Given the description of an element on the screen output the (x, y) to click on. 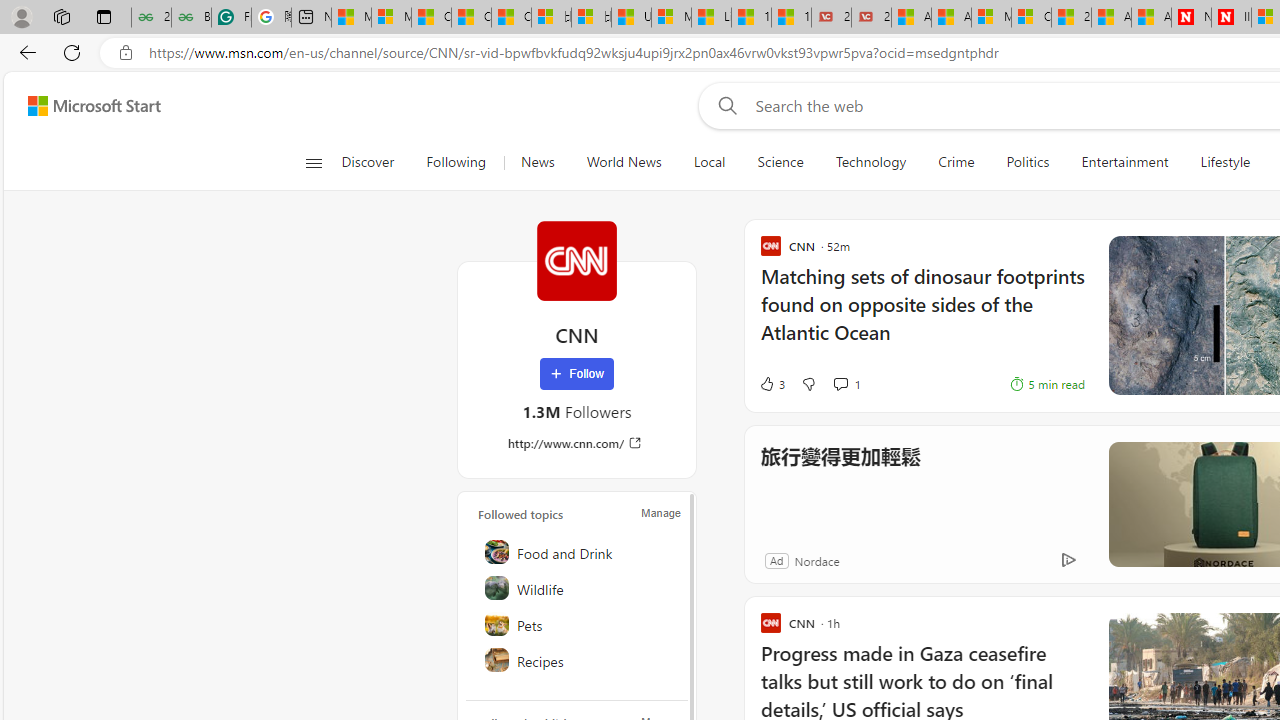
News (537, 162)
USA TODAY - MSN (631, 17)
21 Movies That Outdid the Books They Were Based On (871, 17)
Ad Choice (1068, 560)
Cloud Computing Services | Microsoft Azure (1031, 17)
Skip to content (86, 105)
Food and Drink (578, 551)
Free AI Writing Assistance for Students | Grammarly (231, 17)
